Given the description of an element on the screen output the (x, y) to click on. 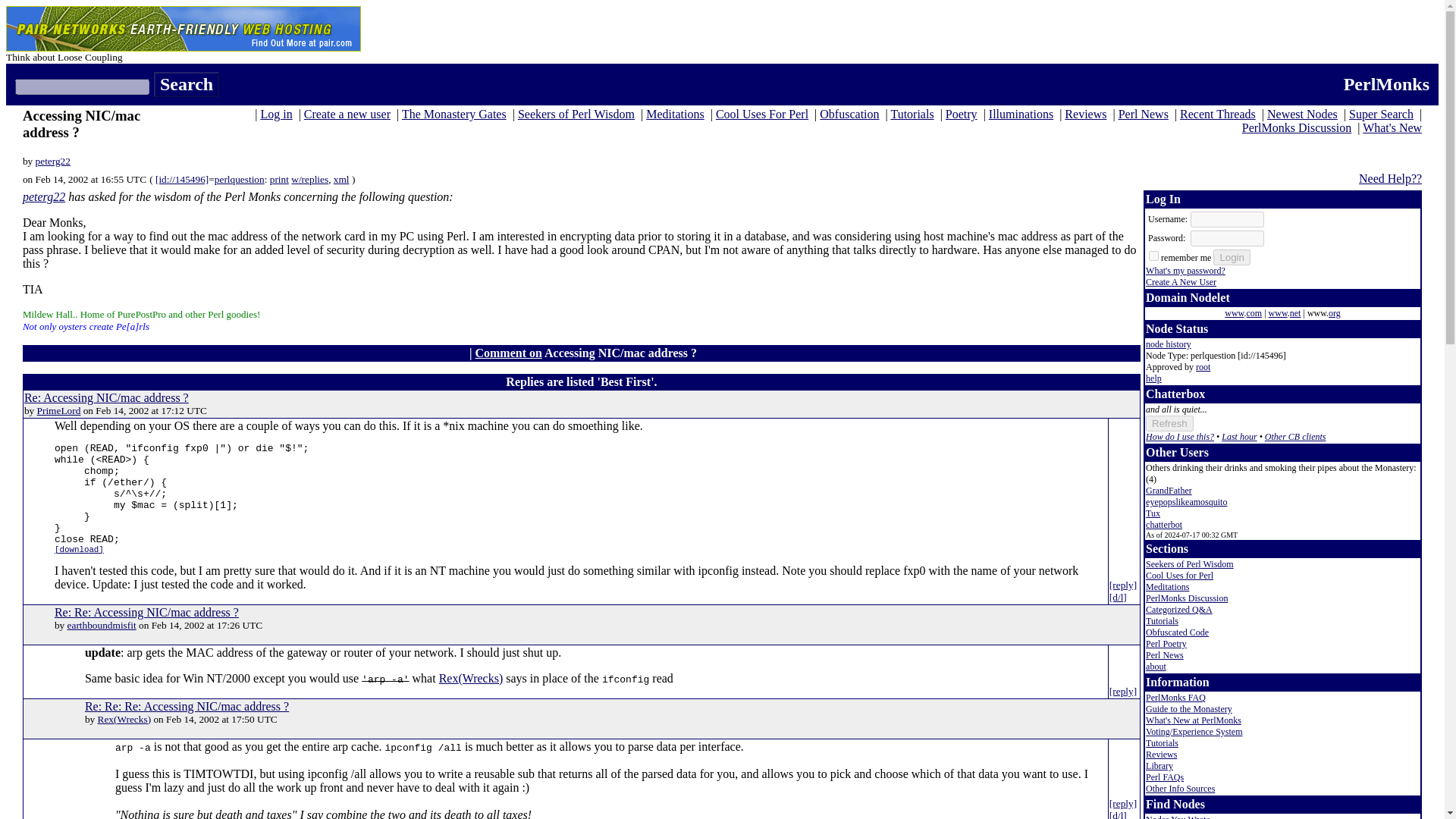
xml (341, 179)
peterg22 (44, 196)
Search (186, 84)
Illuminations (1020, 113)
Refresh (1169, 423)
print (278, 179)
Create a new user (347, 113)
Obfuscation (849, 113)
Seekers of Perl Wisdom (576, 113)
Cool Uses For Perl (762, 113)
Login (1231, 257)
GrandFather's home node. Level 26. Member of: janitors (1168, 490)
What's New (1392, 127)
Perl News (1143, 113)
Log in (276, 113)
